Given the description of an element on the screen output the (x, y) to click on. 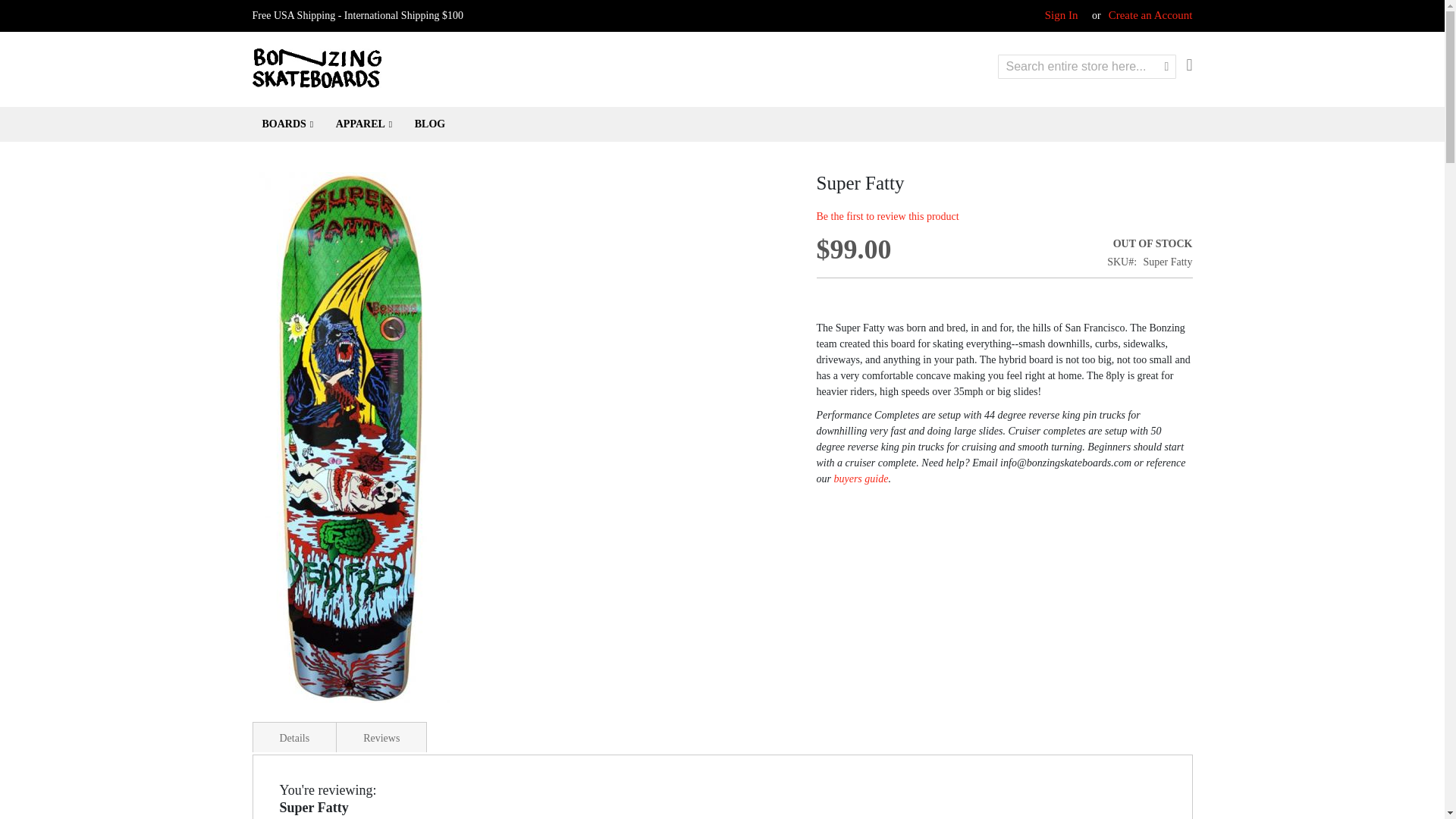
Create an Account (1150, 15)
Availability (1149, 243)
BOARDS (287, 124)
Sign In (1061, 15)
